Given the description of an element on the screen output the (x, y) to click on. 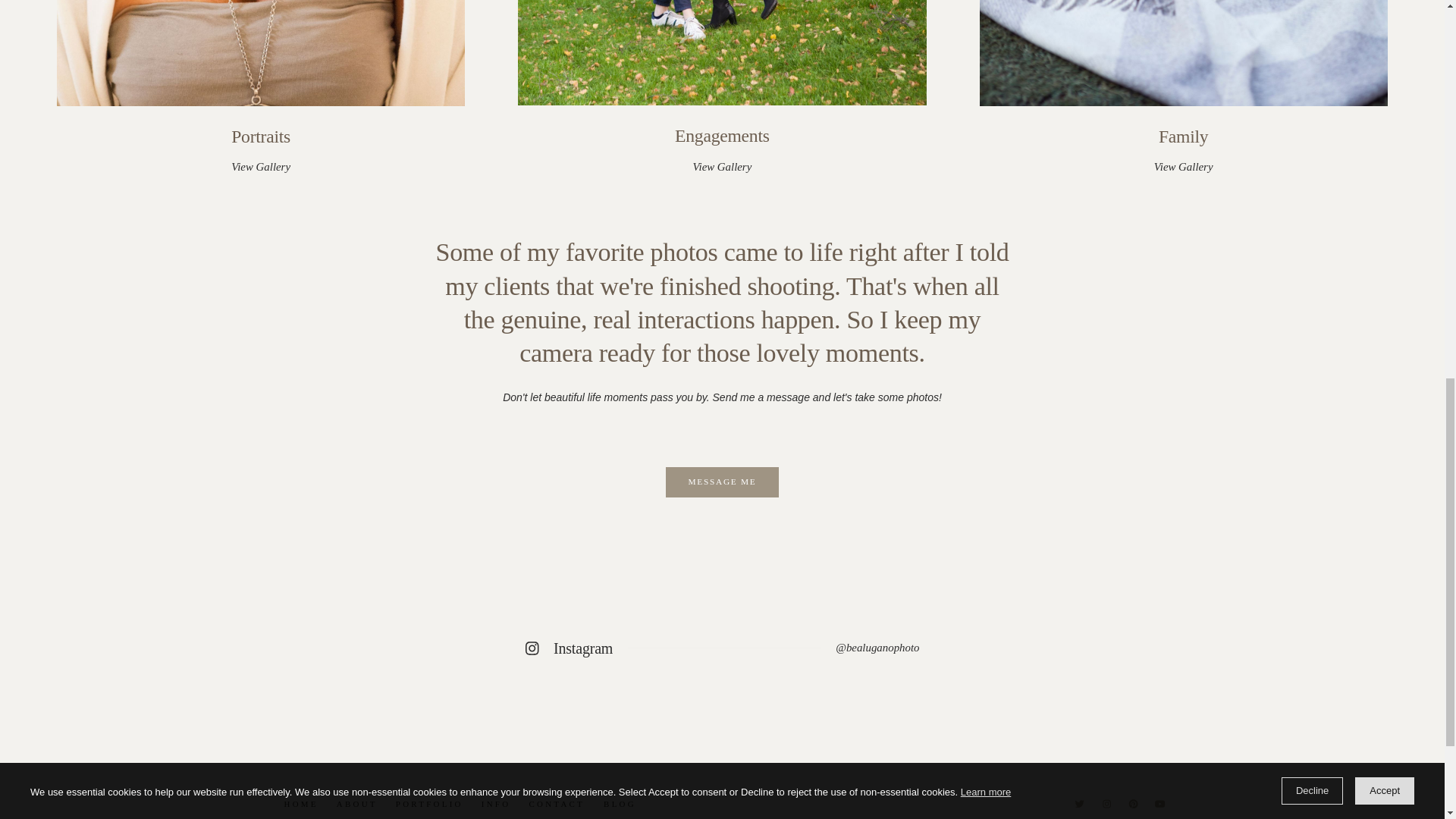
MESSAGE ME (260, 87)
